Given the description of an element on the screen output the (x, y) to click on. 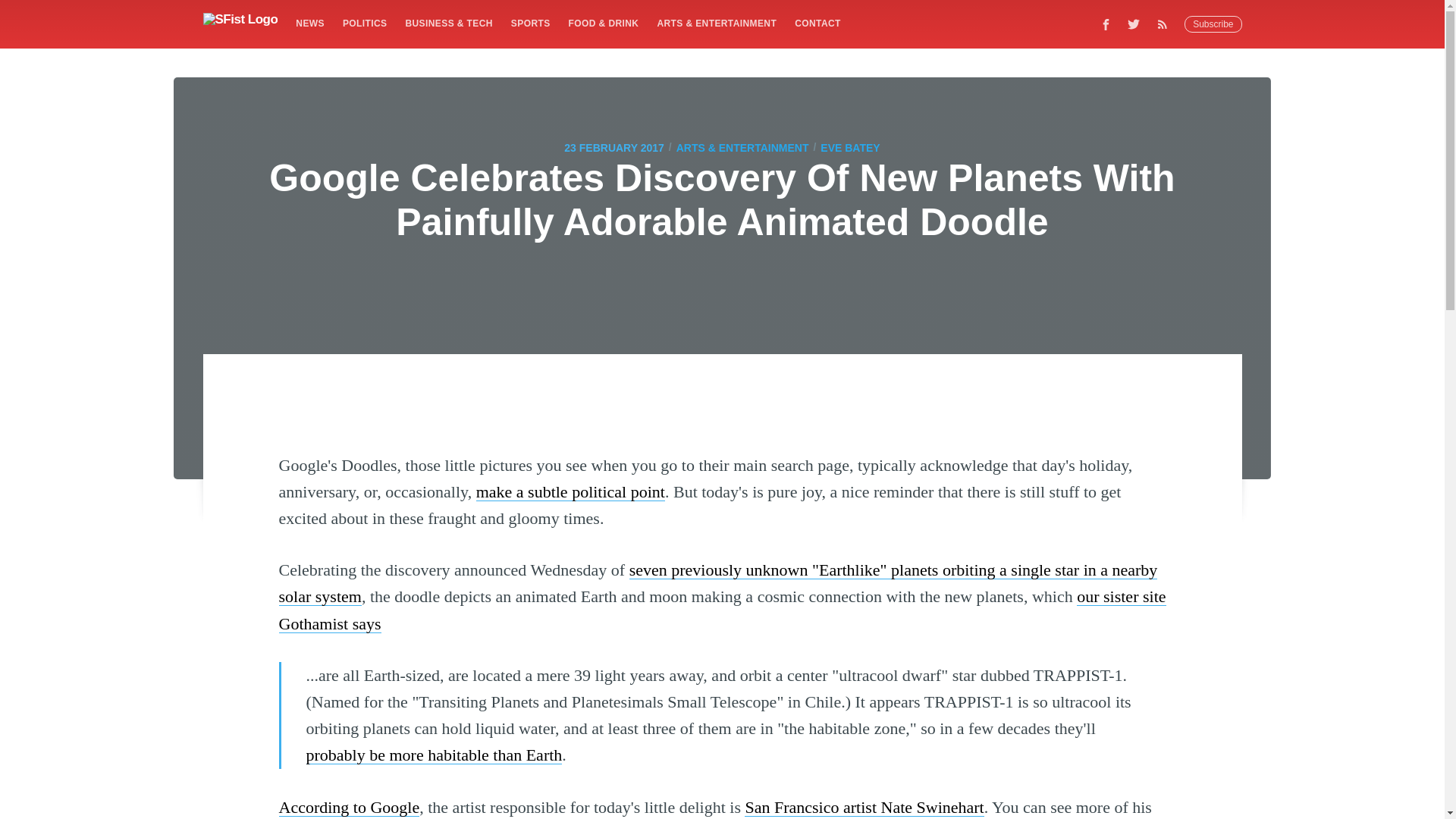
SPORTS (530, 23)
Subscribe (1213, 23)
According to Google (349, 806)
San Francsico artist Nate Swinehart (864, 806)
POLITICS (364, 23)
probably be more habitable than Earth (433, 754)
our sister site Gothamist says (722, 609)
CONTACT (818, 23)
Twitter (1133, 23)
EVE BATEY (850, 147)
Facebook (1106, 23)
make a subtle political point (570, 491)
NEWS (309, 23)
RSS (1166, 23)
